Given the description of an element on the screen output the (x, y) to click on. 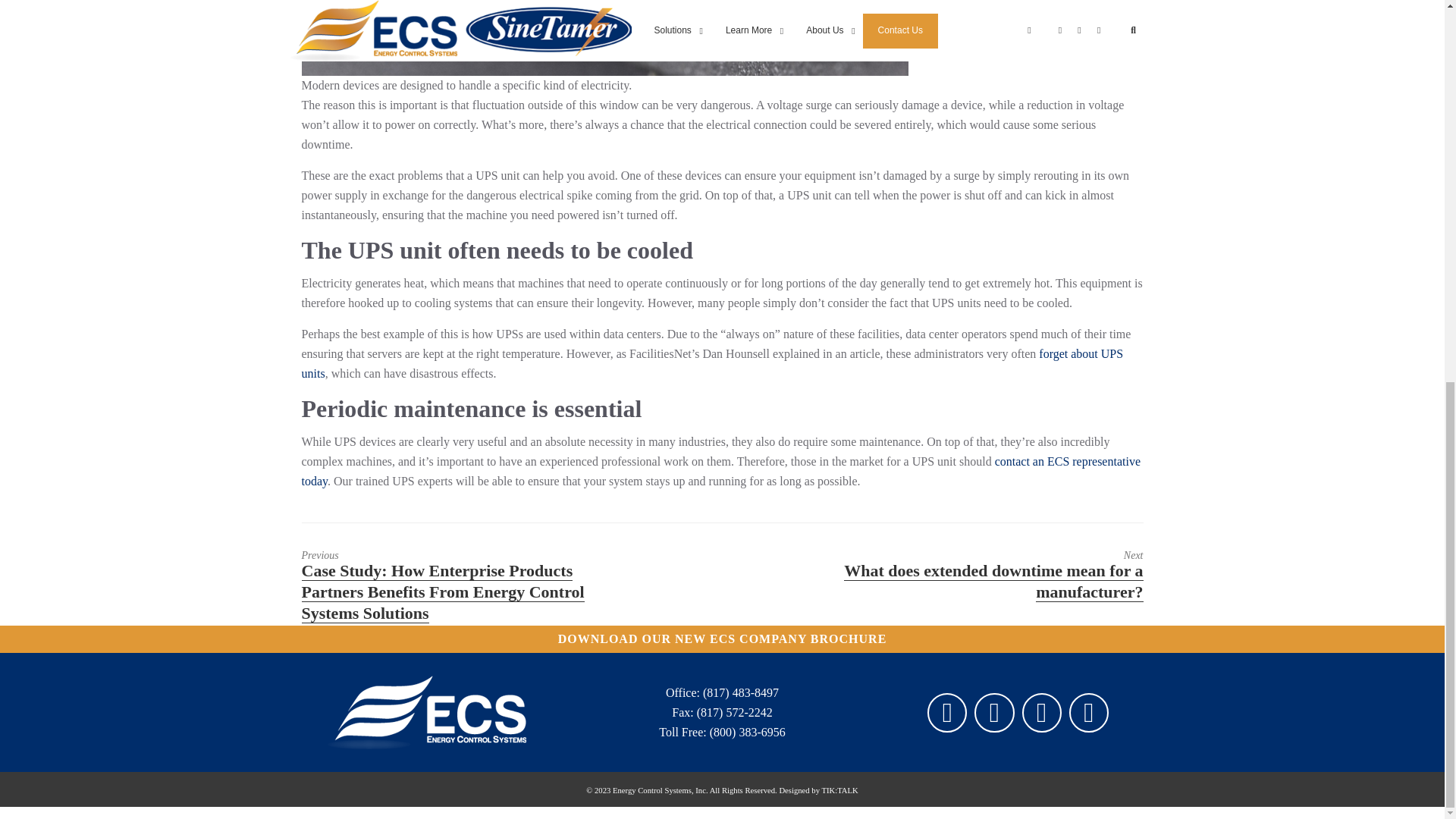
Facebook (946, 712)
Youtube (1088, 712)
Twitter (993, 712)
Linkedin (1041, 712)
